Given the description of an element on the screen output the (x, y) to click on. 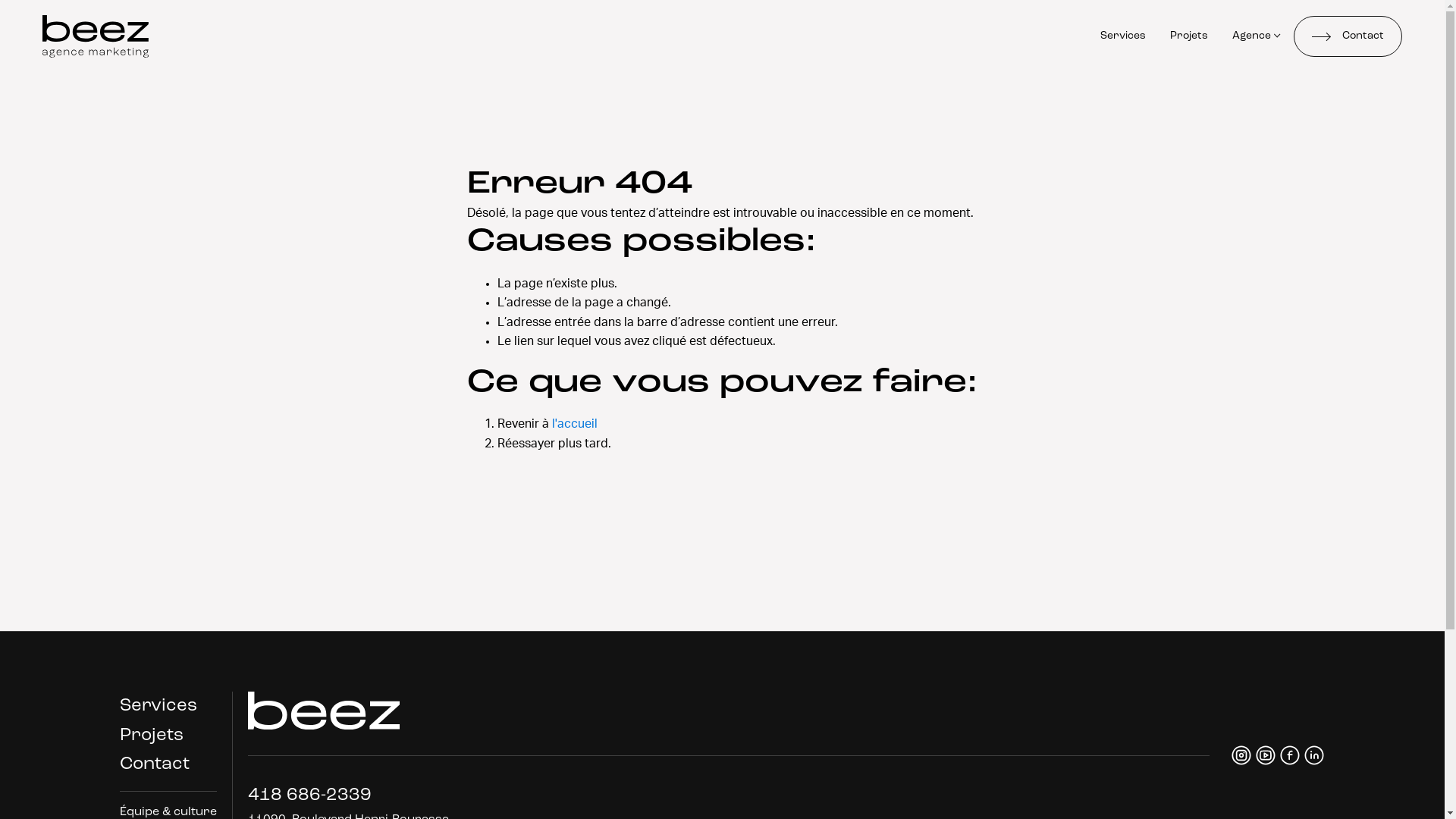
Agence Element type: text (1256, 36)
Contact Element type: text (1347, 35)
Projets Element type: text (151, 735)
Projets Element type: text (1188, 36)
Services Element type: text (158, 705)
Contact Element type: text (154, 764)
Services Element type: text (1122, 36)
l'accueil Element type: text (574, 423)
Beez Agence marketing Element type: hover (95, 36)
